Given the description of an element on the screen output the (x, y) to click on. 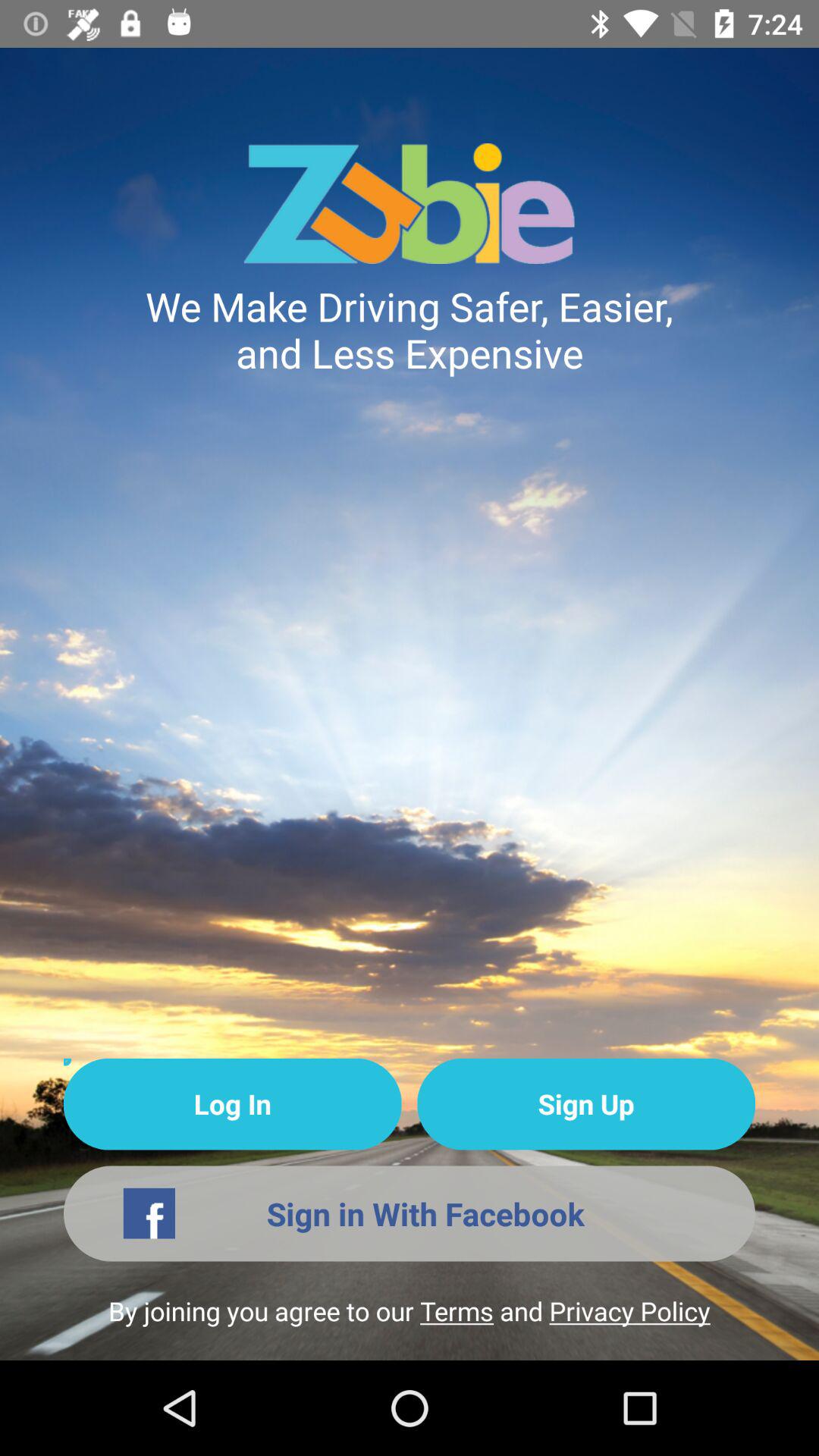
open the icon above the sign in with icon (232, 1104)
